Given the description of an element on the screen output the (x, y) to click on. 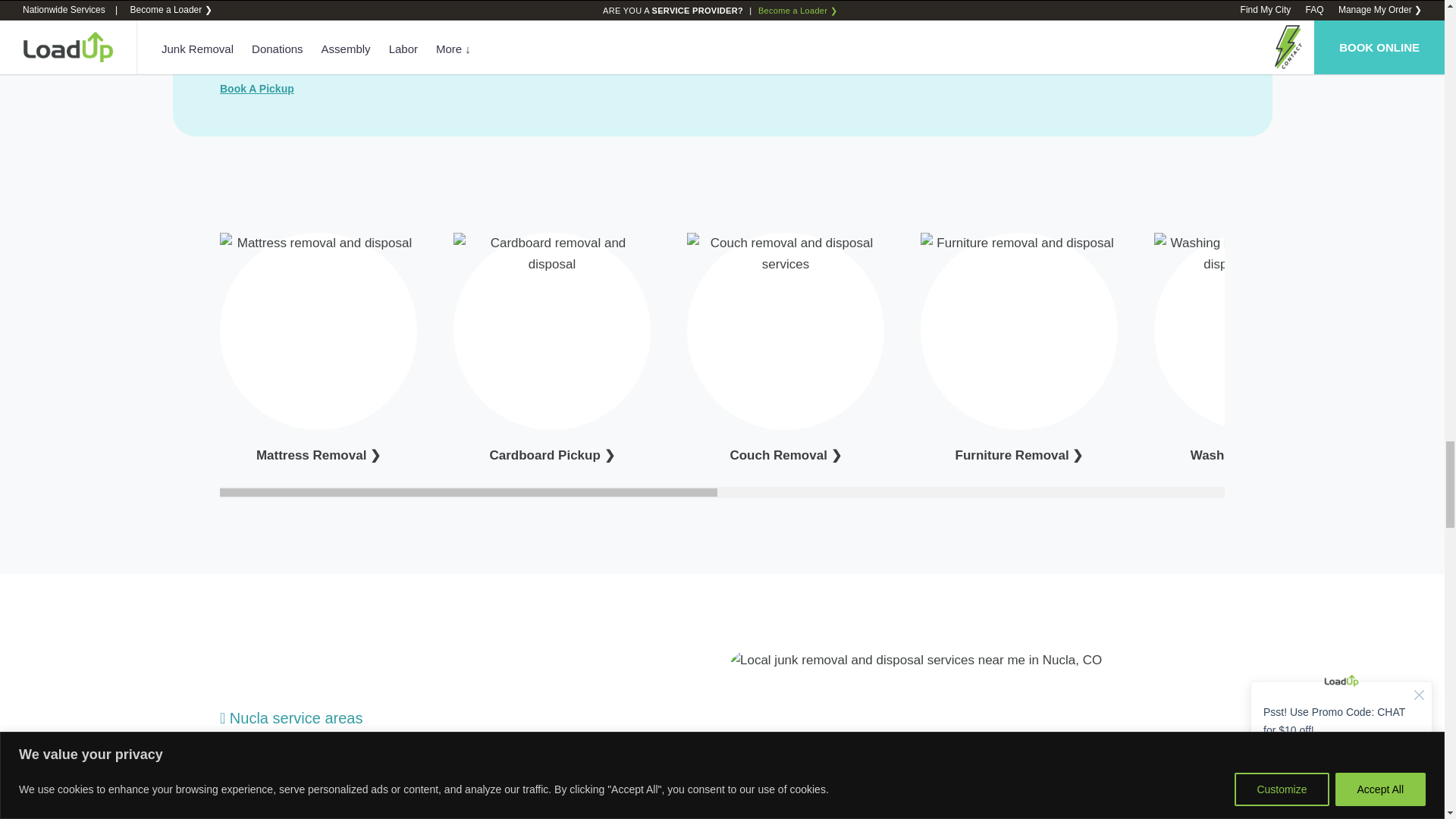
Schedule junk removal in Nucla online (256, 88)
Learn more about our Nucla mattress removal services (318, 454)
